Given the description of an element on the screen output the (x, y) to click on. 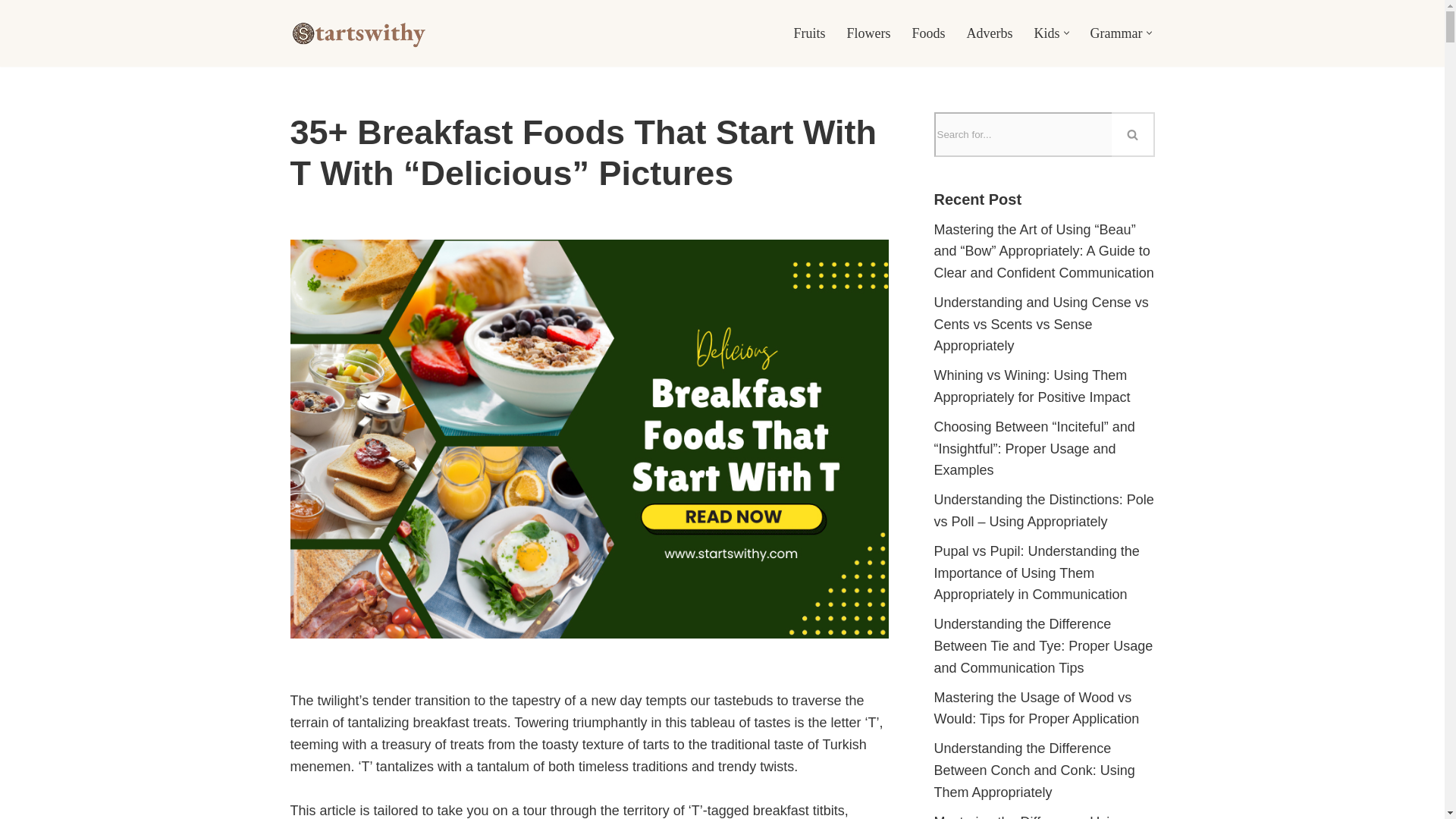
Fruits (809, 33)
Adverbs (989, 33)
Skip to content (11, 31)
Kids (1046, 33)
Grammar (1116, 33)
Flowers (867, 33)
Foods (927, 33)
